Given the description of an element on the screen output the (x, y) to click on. 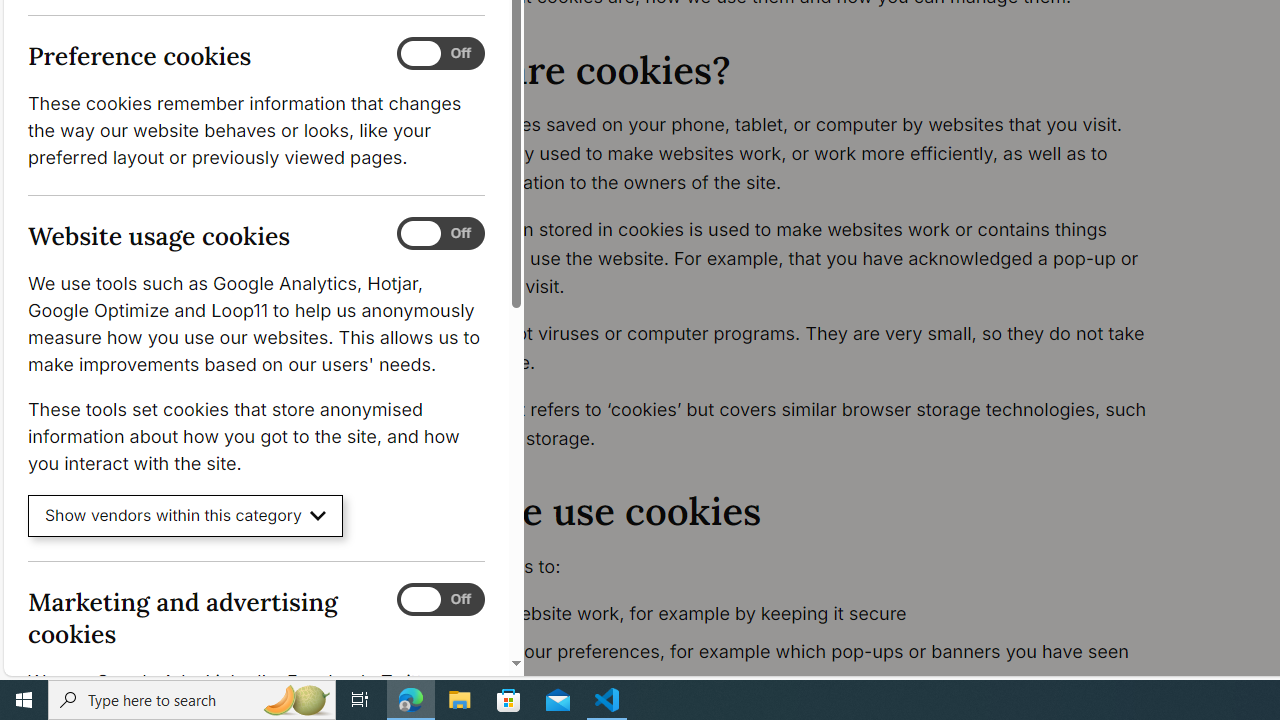
Show vendors within this category (185, 516)
Preference cookies (440, 53)
make our website work, for example by keeping it secure (796, 614)
Website usage cookies (440, 233)
Marketing and advertising cookies (440, 599)
